Given the description of an element on the screen output the (x, y) to click on. 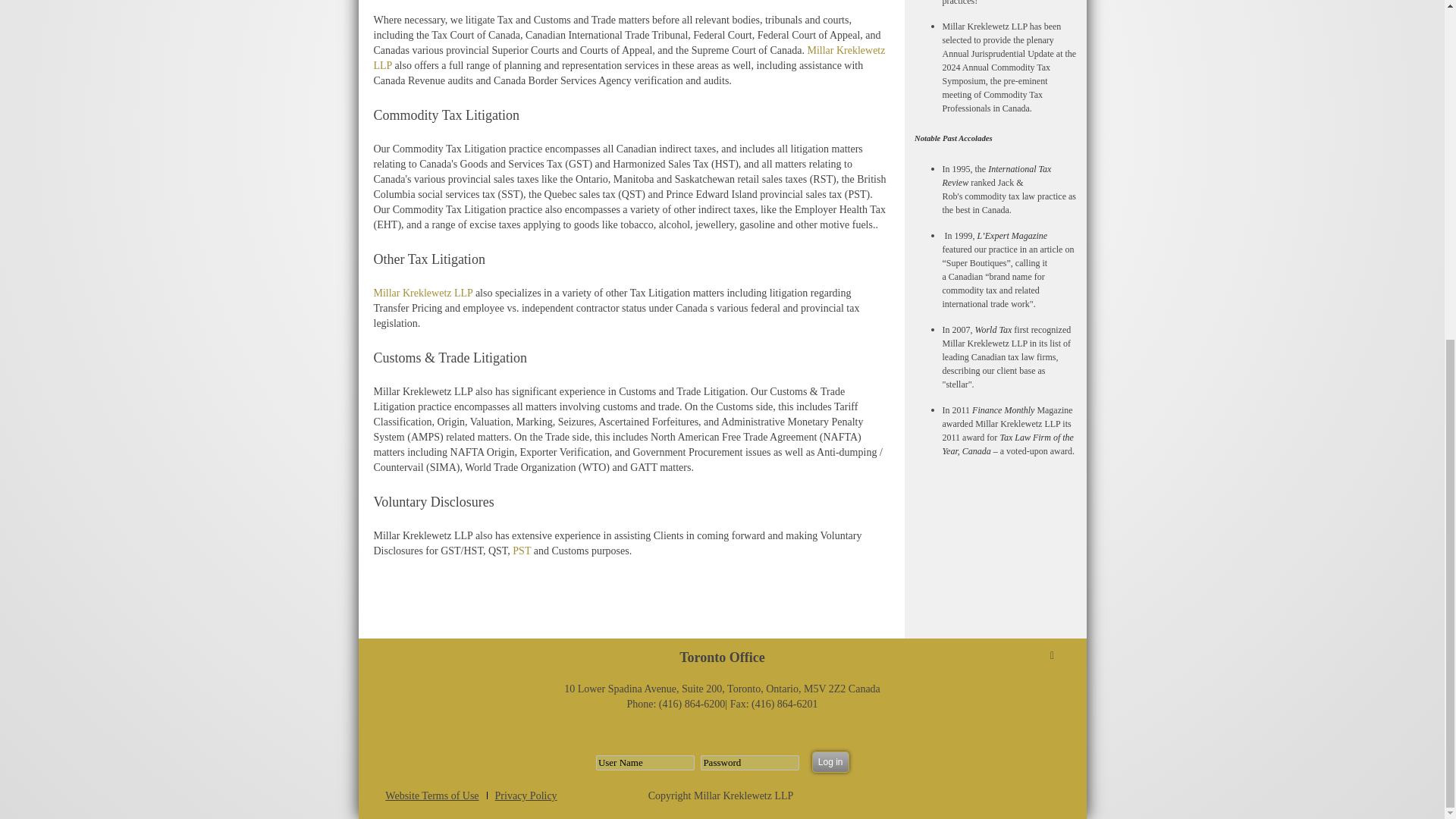
Millar Kreklewetz LLP (628, 58)
Millar Kreklewetz LLP (421, 292)
PST (521, 550)
Privacy Policy (526, 795)
Website Terms of Use (432, 795)
User Name (644, 762)
Password (749, 762)
